Given the description of an element on the screen output the (x, y) to click on. 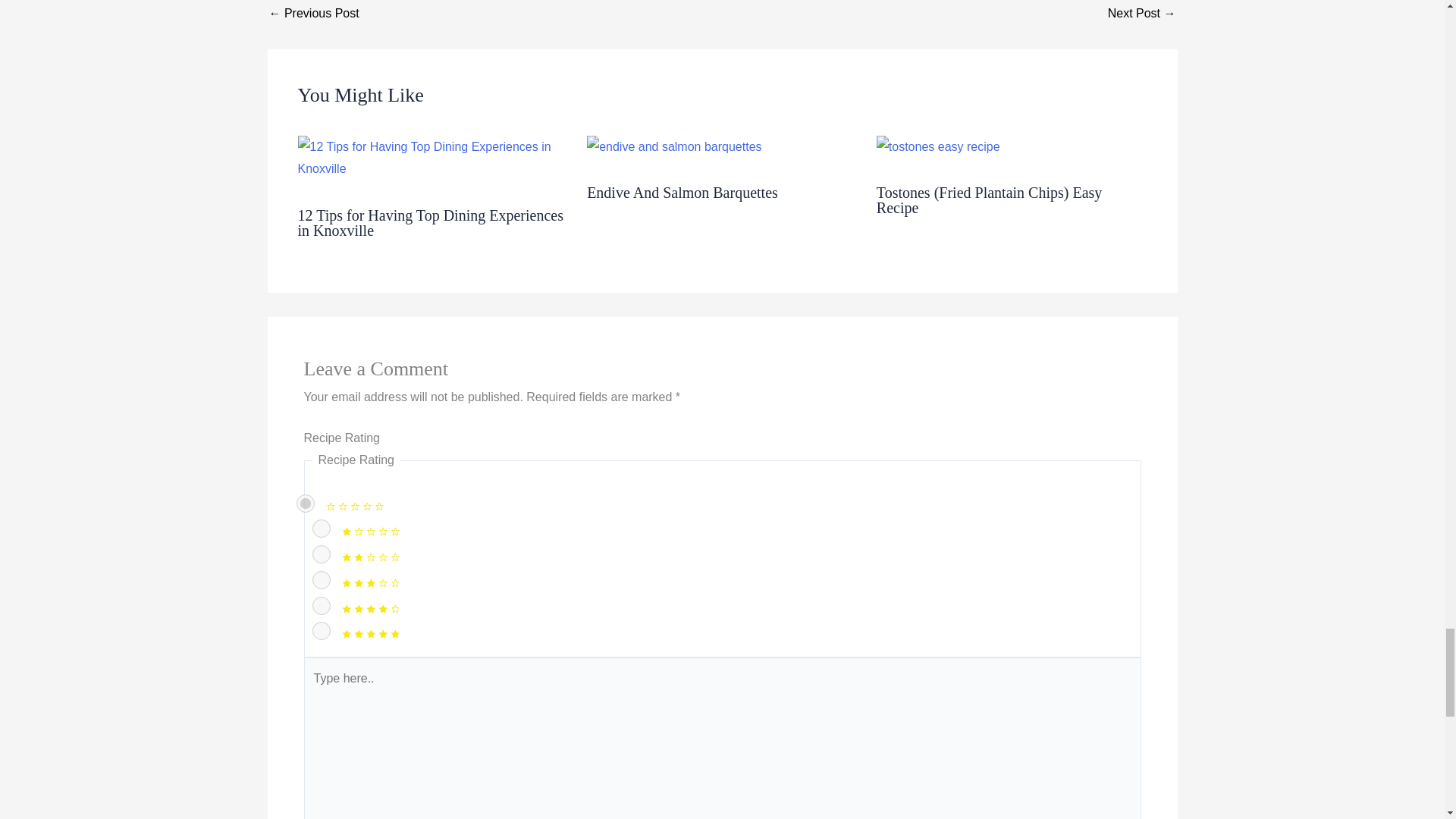
5 (321, 630)
1 (321, 528)
3 (321, 579)
Beetroot Salad With Bryndza (1142, 13)
0 (304, 503)
4 (321, 606)
2 (321, 554)
